Given the description of an element on the screen output the (x, y) to click on. 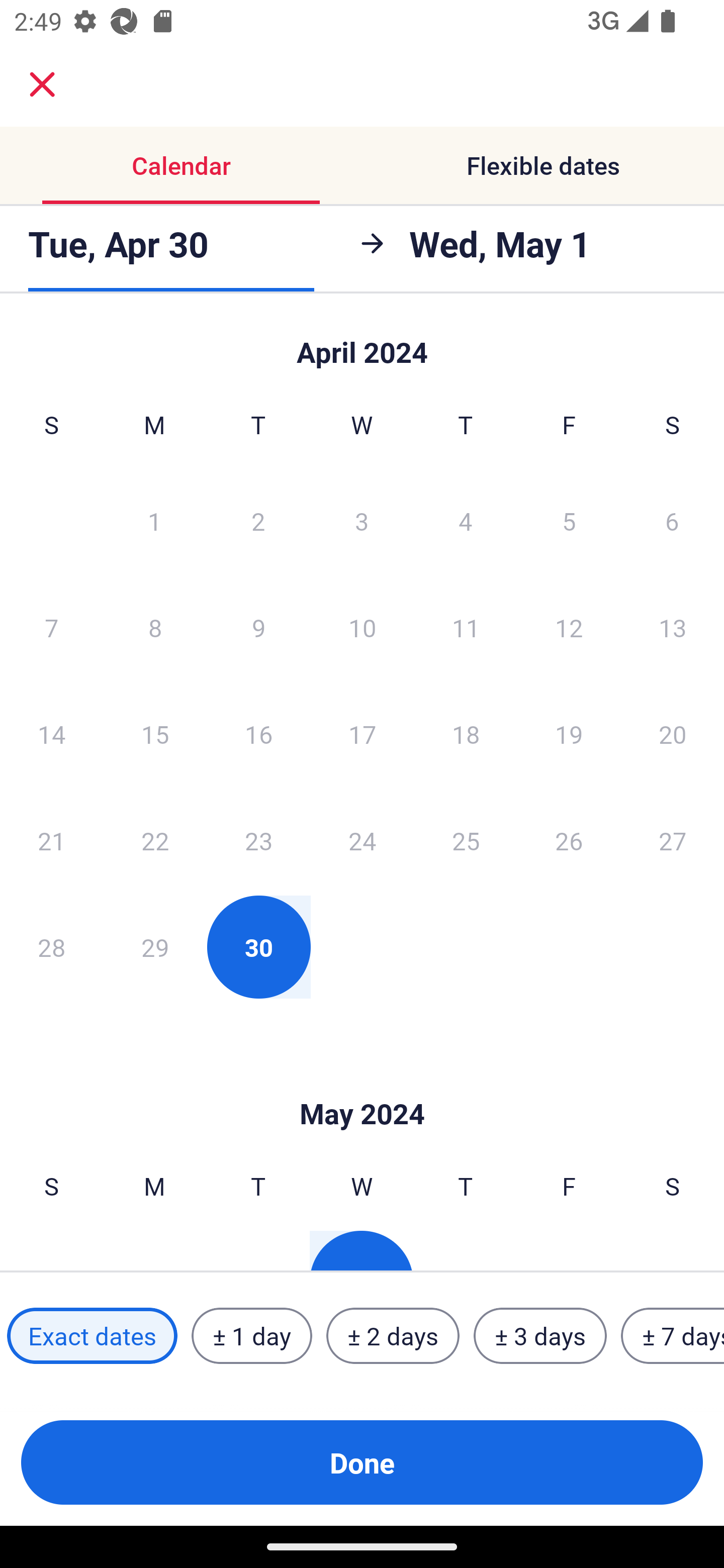
close. (42, 84)
Flexible dates (542, 164)
Skip to Done (362, 343)
1 Monday, April 1, 2024 (154, 520)
2 Tuesday, April 2, 2024 (257, 520)
3 Wednesday, April 3, 2024 (361, 520)
4 Thursday, April 4, 2024 (465, 520)
5 Friday, April 5, 2024 (568, 520)
6 Saturday, April 6, 2024 (672, 520)
7 Sunday, April 7, 2024 (51, 626)
8 Monday, April 8, 2024 (155, 626)
9 Tuesday, April 9, 2024 (258, 626)
10 Wednesday, April 10, 2024 (362, 626)
11 Thursday, April 11, 2024 (465, 626)
12 Friday, April 12, 2024 (569, 626)
13 Saturday, April 13, 2024 (672, 626)
14 Sunday, April 14, 2024 (51, 733)
15 Monday, April 15, 2024 (155, 733)
16 Tuesday, April 16, 2024 (258, 733)
17 Wednesday, April 17, 2024 (362, 733)
18 Thursday, April 18, 2024 (465, 733)
19 Friday, April 19, 2024 (569, 733)
20 Saturday, April 20, 2024 (672, 733)
21 Sunday, April 21, 2024 (51, 840)
22 Monday, April 22, 2024 (155, 840)
23 Tuesday, April 23, 2024 (258, 840)
24 Wednesday, April 24, 2024 (362, 840)
25 Thursday, April 25, 2024 (465, 840)
26 Friday, April 26, 2024 (569, 840)
27 Saturday, April 27, 2024 (672, 840)
28 Sunday, April 28, 2024 (51, 946)
29 Monday, April 29, 2024 (155, 946)
Skip to Done (362, 1083)
2 Thursday, May 2, 2024 (464, 1250)
± 1 day (251, 1335)
± 2 days (392, 1335)
± 3 days (539, 1335)
± 7 days (672, 1335)
Done (361, 1462)
